Given the description of an element on the screen output the (x, y) to click on. 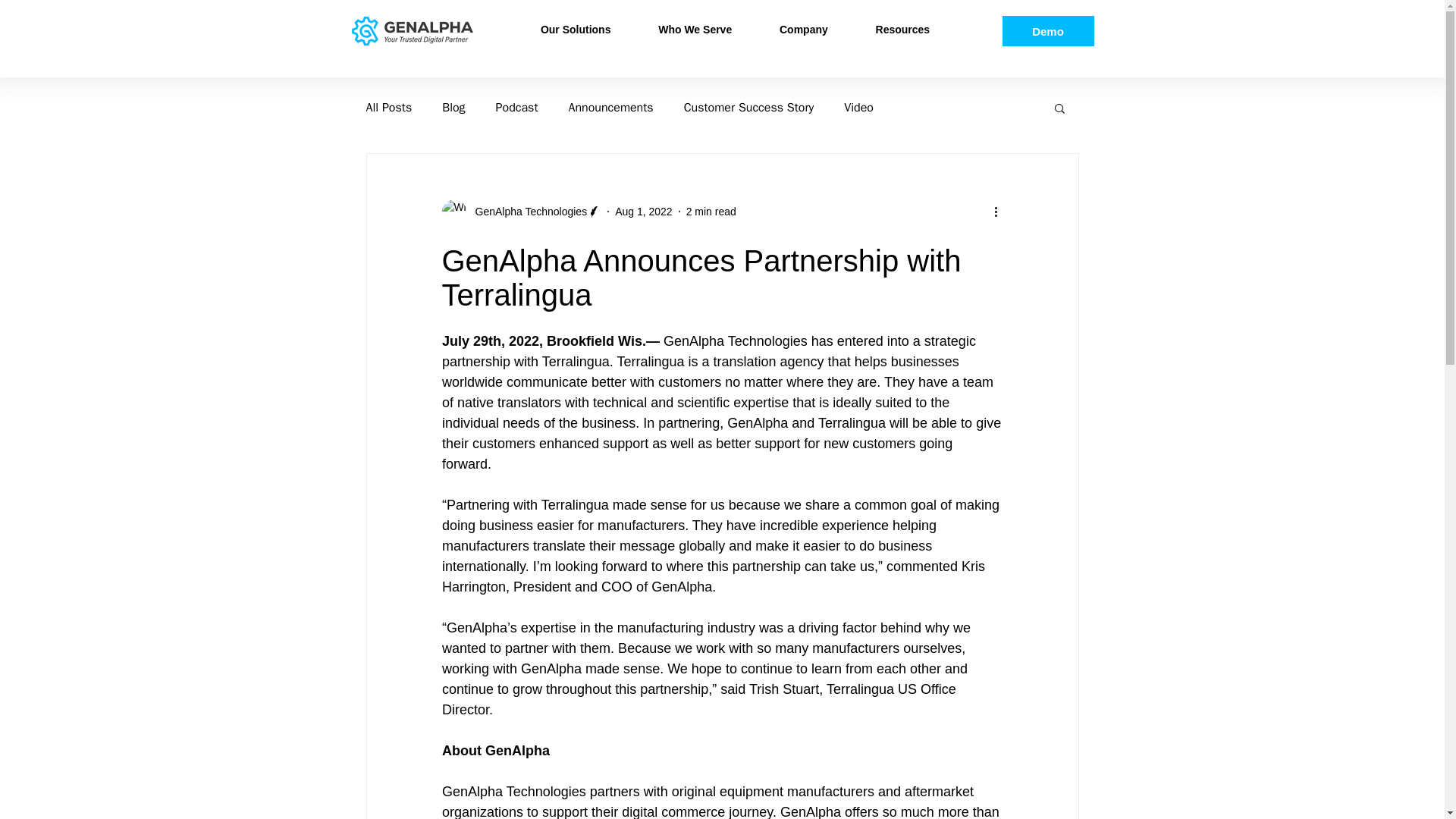
Customer Success Story (748, 107)
All Posts (388, 107)
Blog (453, 107)
Demo (1048, 30)
Aug 1, 2022 (643, 210)
Announcements (611, 107)
Podcast (517, 107)
GenAlpha Technologies (521, 211)
2 min read (710, 210)
Video (858, 107)
GenAlpha Technologies (525, 211)
